Given the description of an element on the screen output the (x, y) to click on. 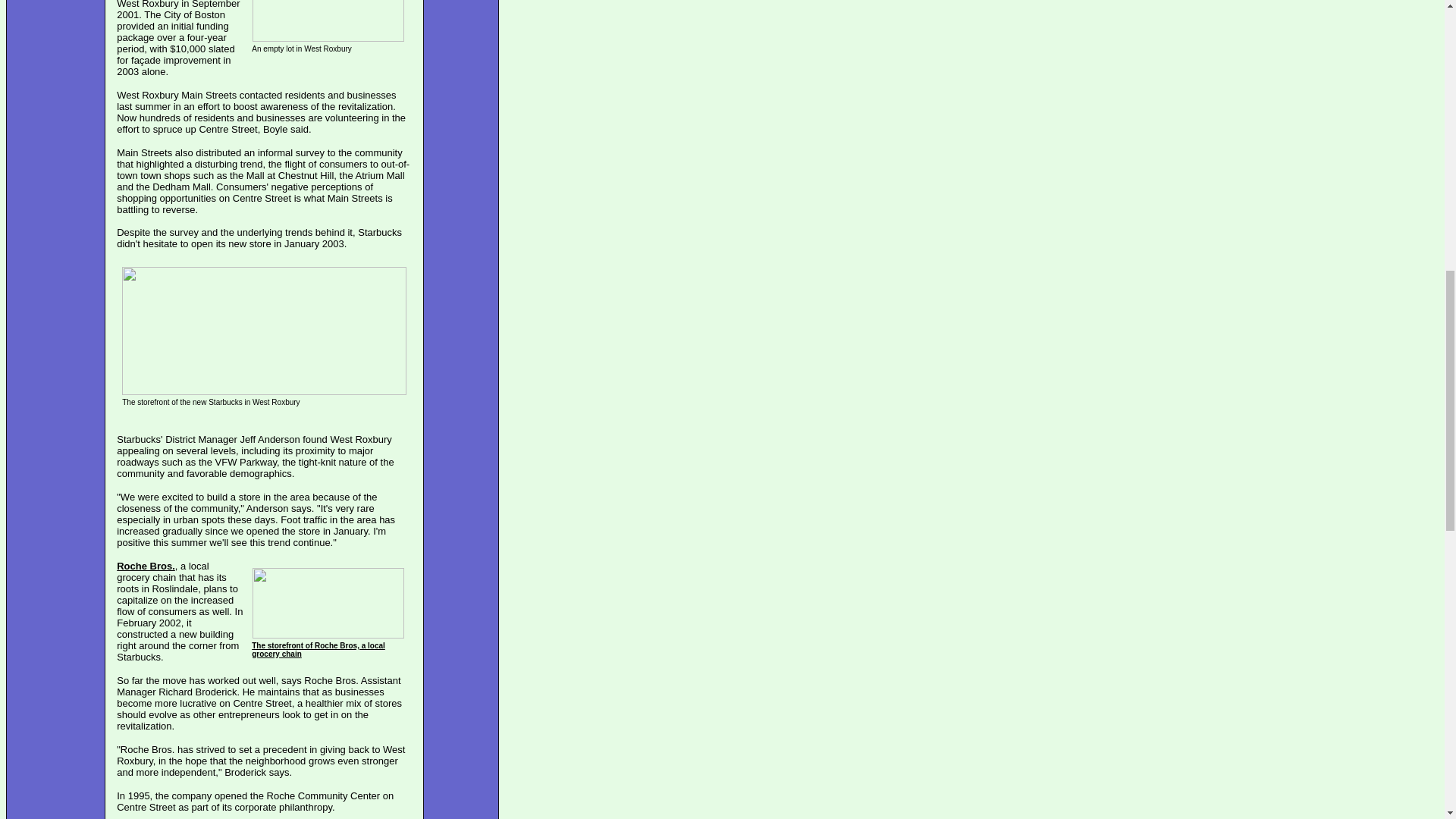
The storefront of Roche Bros, a local grocery chain (318, 648)
Roche Bros. (145, 564)
